Given the description of an element on the screen output the (x, y) to click on. 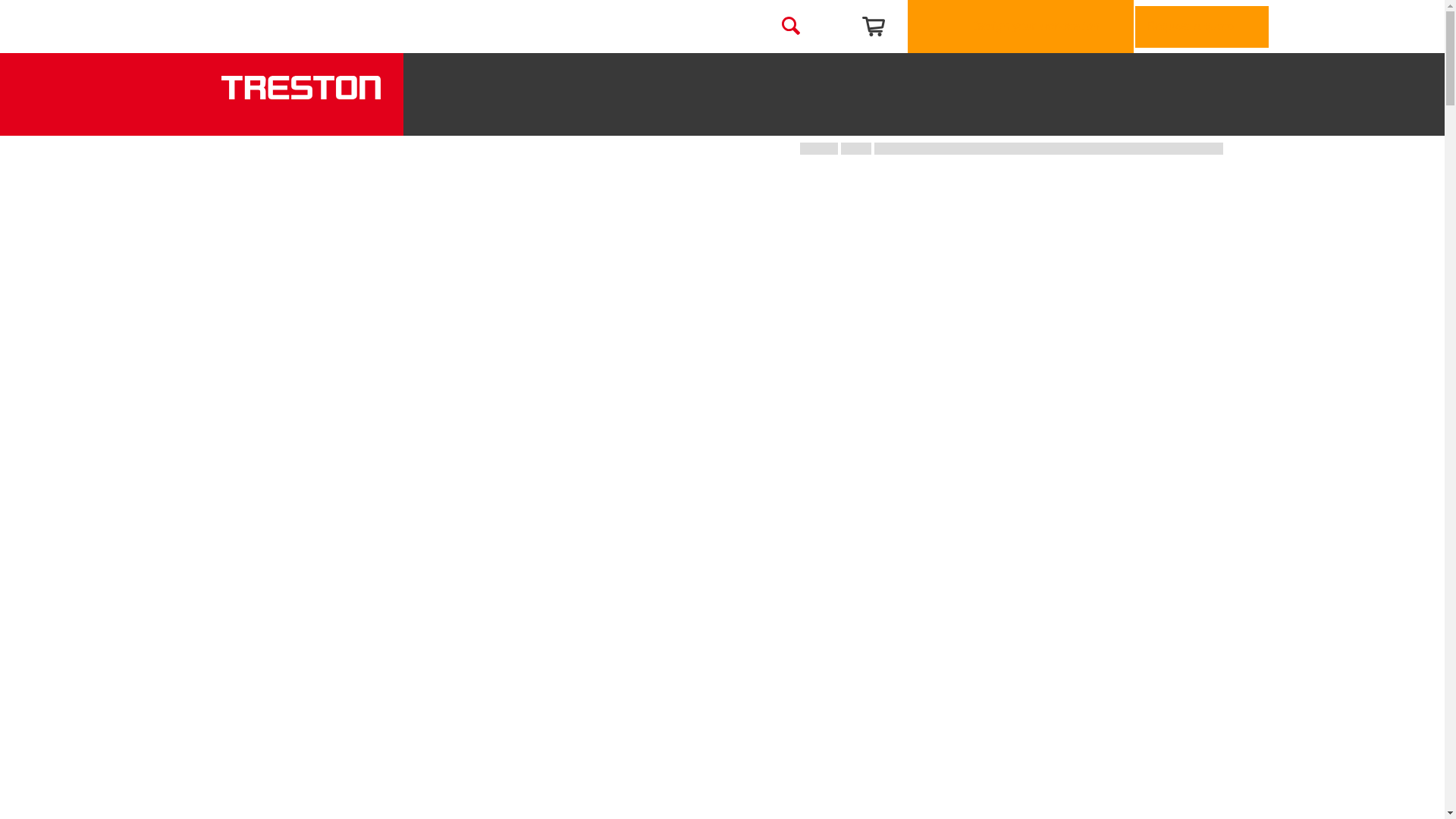
Request a quote (1201, 26)
Design your workstation (1020, 26)
